Given the description of an element on the screen output the (x, y) to click on. 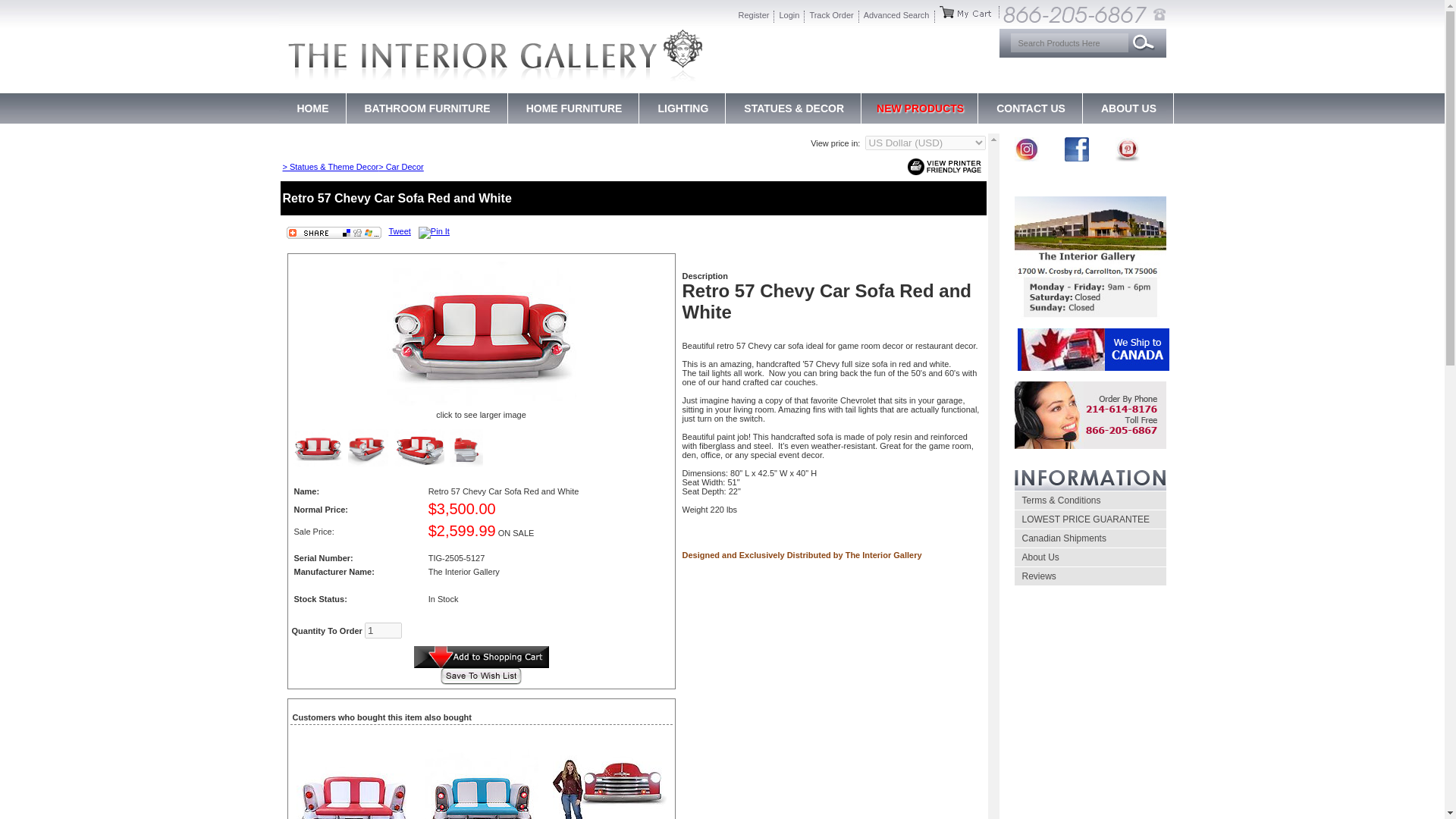
1 (383, 630)
Login (789, 16)
BATHROOM FURNITURE (426, 108)
Pin It (434, 232)
Track Order (832, 16)
Retro 57 Chevy Car Sofa Red and White (481, 333)
HOME FURNITURE (574, 108)
Advanced Search (896, 16)
Register (753, 16)
friend us on Facebook (1076, 157)
follow us on Pinterest (1127, 157)
HOME (312, 108)
